Given the description of an element on the screen output the (x, y) to click on. 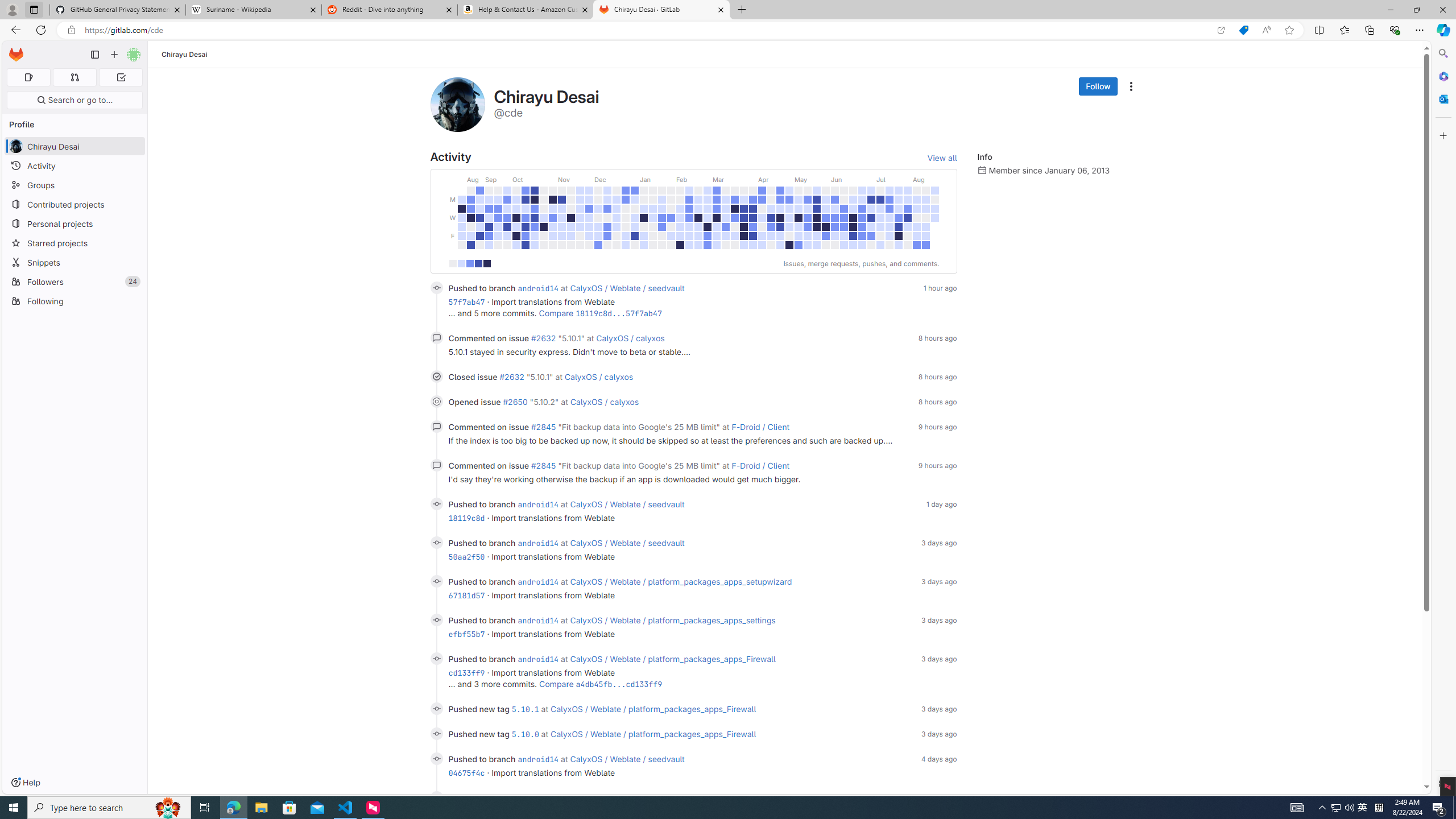
Followers 24 (74, 281)
... and 5 more commits. Compare 18119c8d...57f7ab47 (702, 313)
57f7ab47 (466, 301)
CalyxOS / Weblate / platform_packages_apps_setupwizard (680, 581)
